Given the description of an element on the screen output the (x, y) to click on. 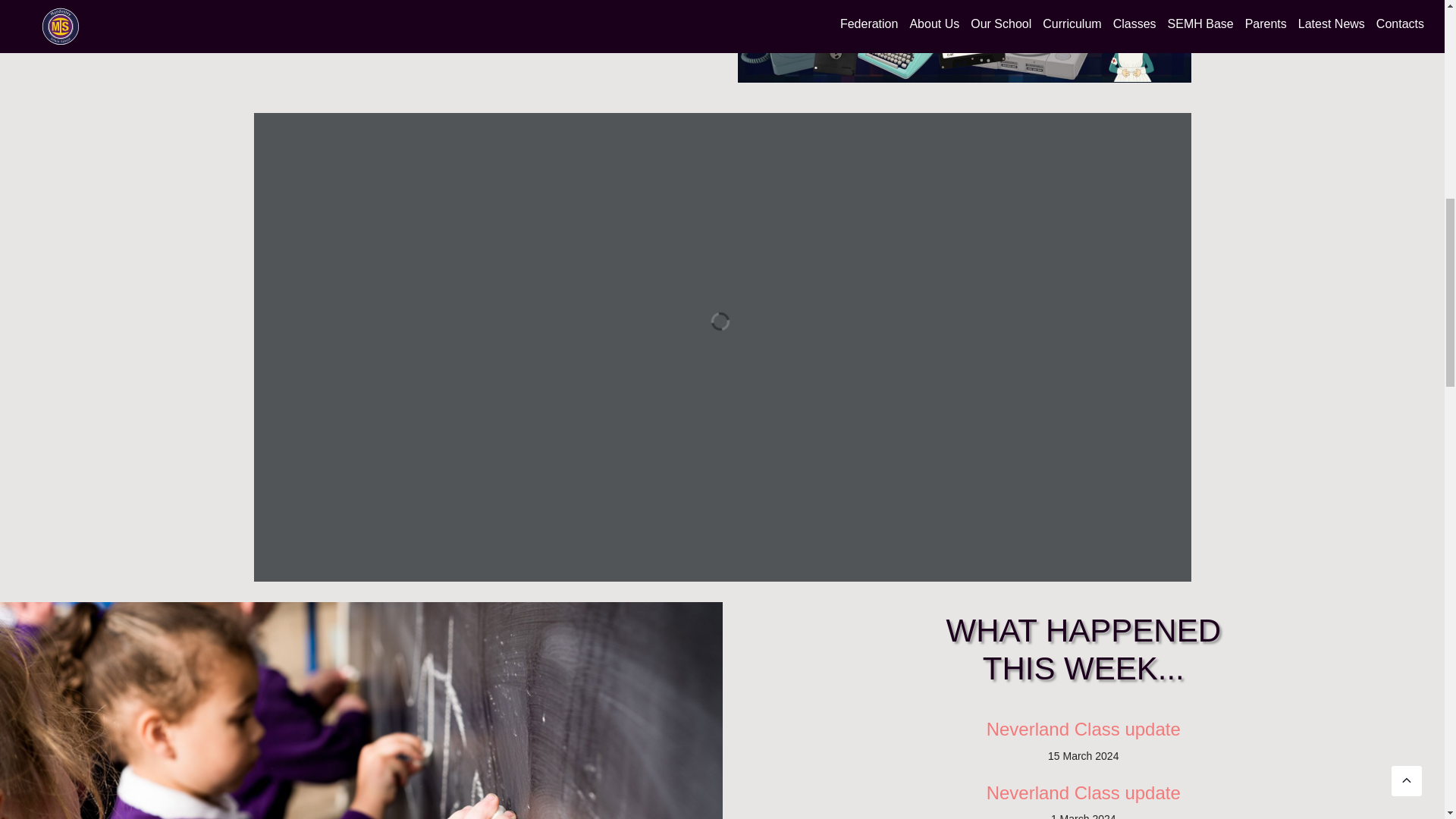
Neverland Class update (1083, 792)
Neverland Class update (1083, 729)
Neverland Class update (1083, 792)
KS1 From Past To Pixels Planning Pack (963, 41)
Neverland Class update (1083, 729)
